Given the description of an element on the screen output the (x, y) to click on. 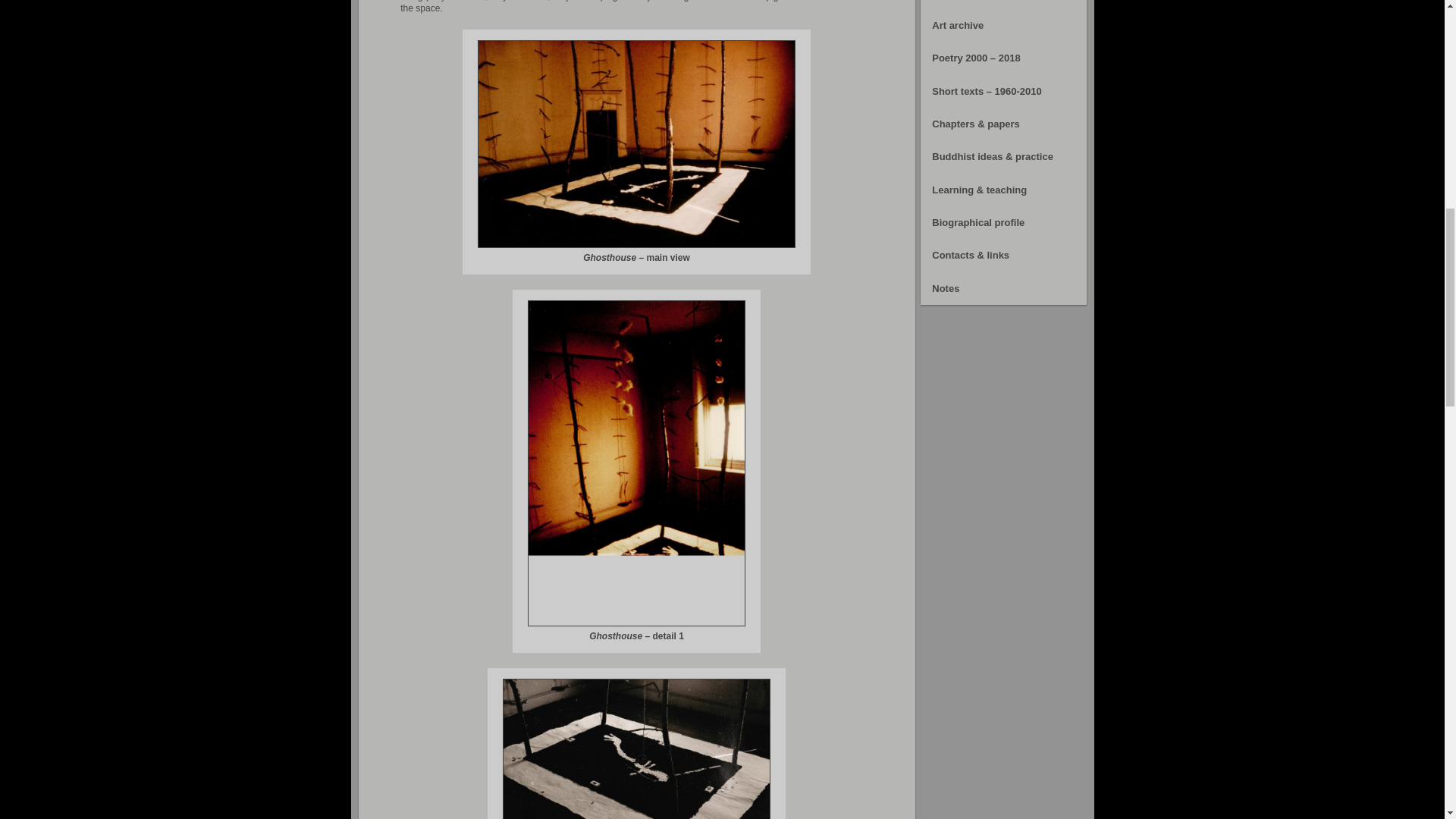
Ghosthouse - main view (635, 143)
Ghosthouse - detail 2 (636, 748)
Art 1995-2003 (1003, 4)
Art archive (1003, 25)
